Given the description of an element on the screen output the (x, y) to click on. 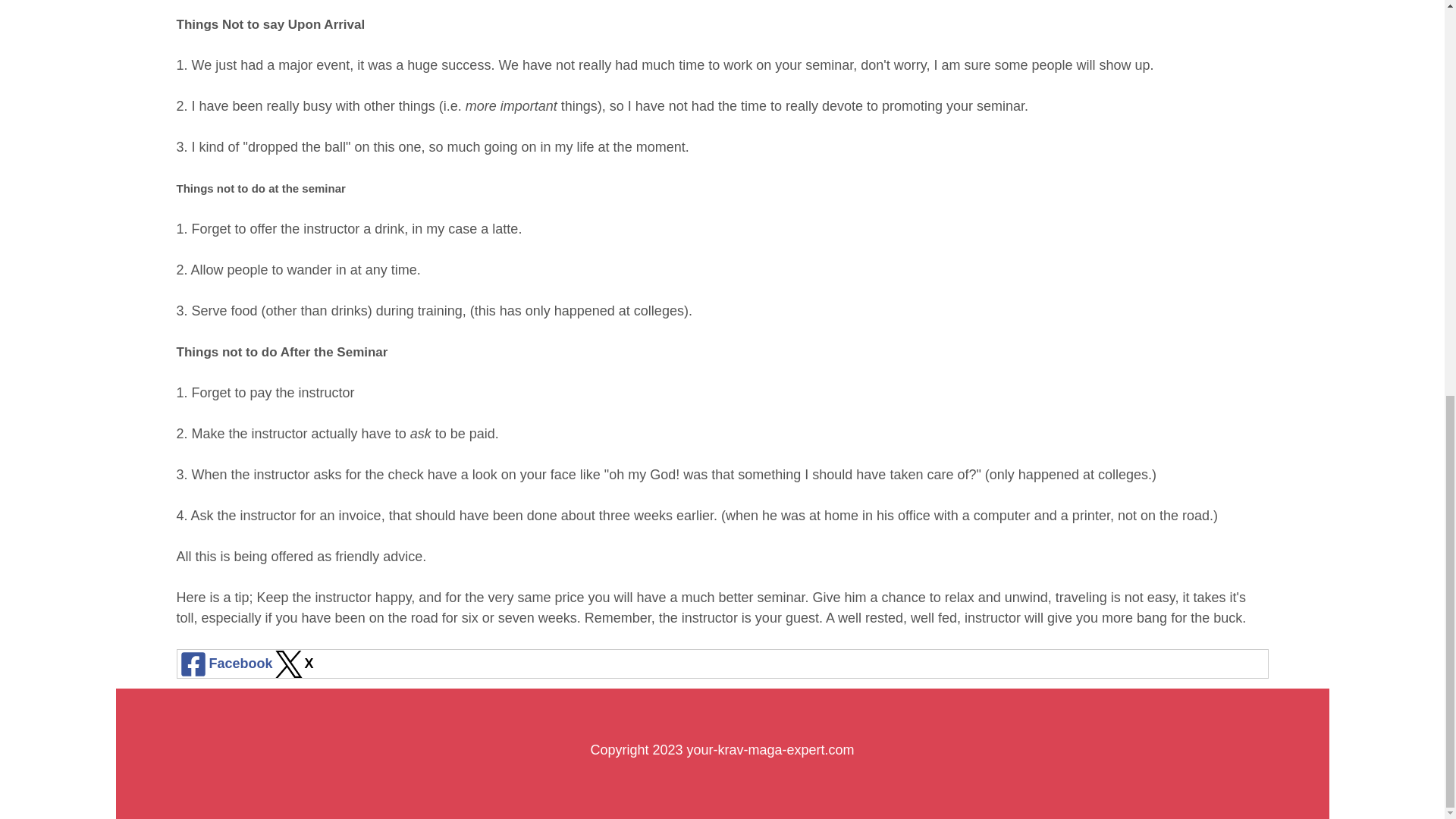
X (293, 664)
Facebook (225, 664)
